Given the description of an element on the screen output the (x, y) to click on. 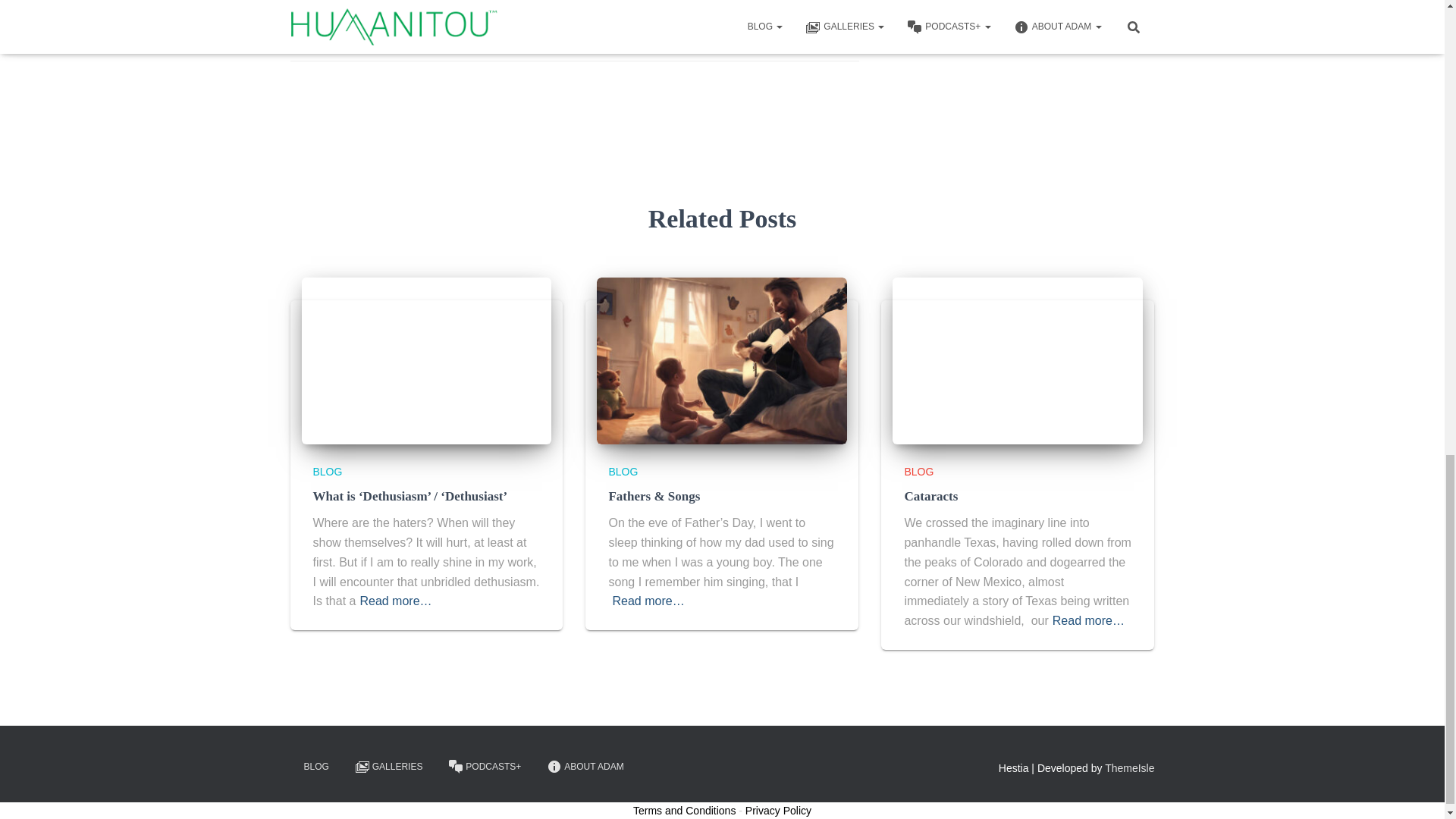
Michael Franti (327, 32)
connection (440, 7)
quotes (383, 32)
love (533, 7)
Blog (332, 7)
BLOG (327, 471)
Listening (495, 7)
compassion (378, 7)
